Given the description of an element on the screen output the (x, y) to click on. 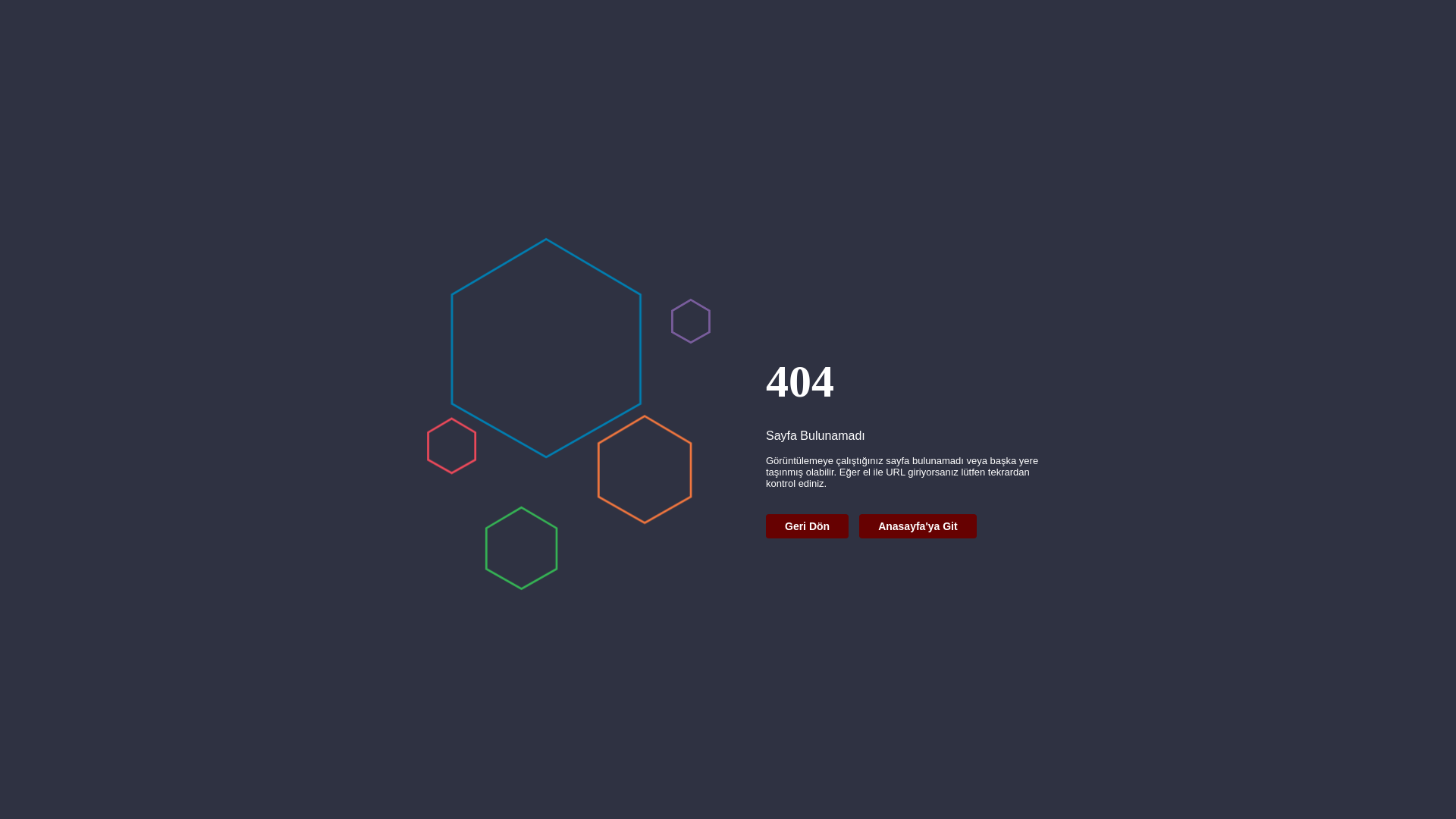
Anasayfa'ya Git Element type: text (917, 526)
